Given the description of an element on the screen output the (x, y) to click on. 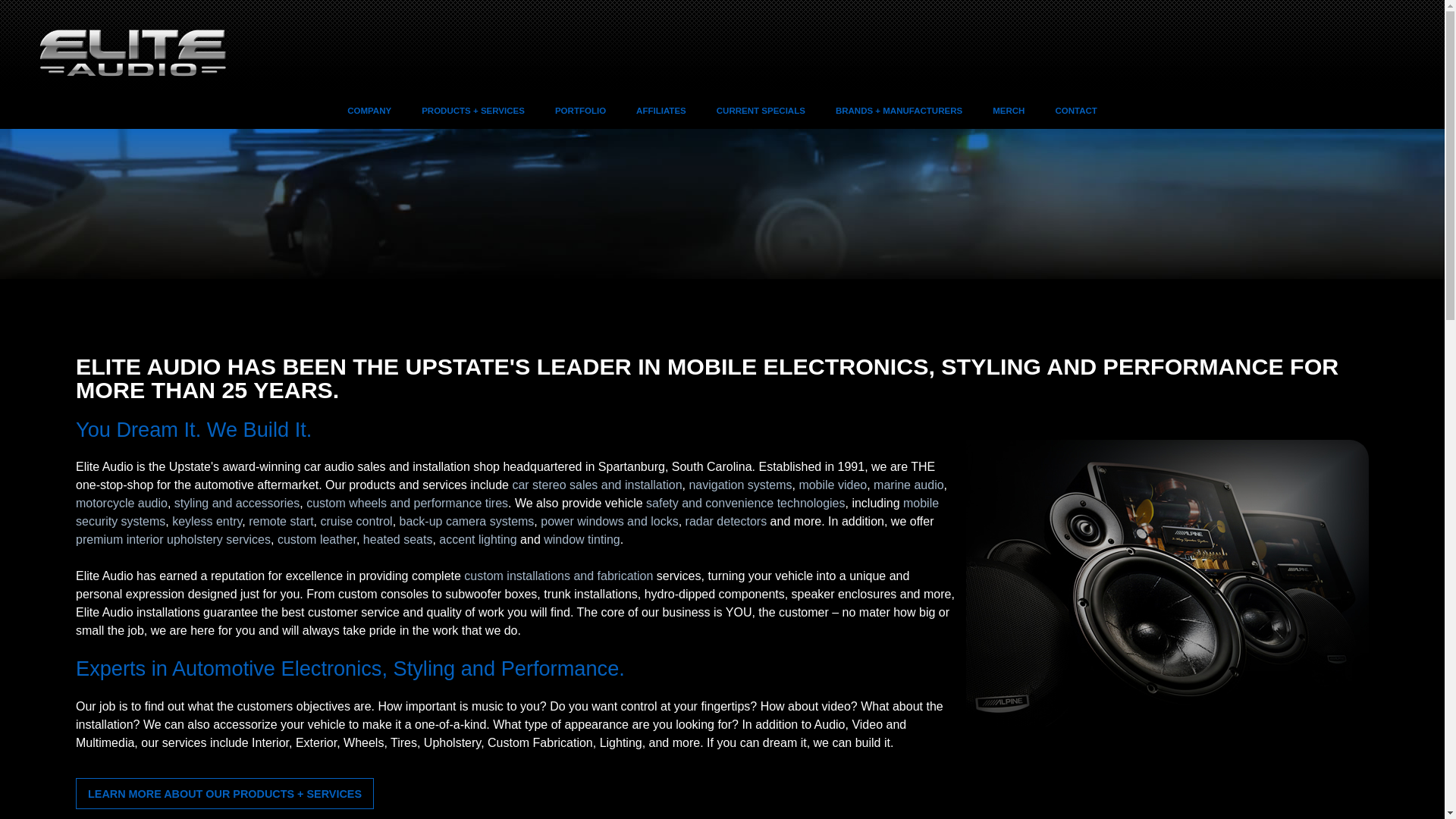
CURRENT SPECIALS (761, 108)
car stereo sales and installation (596, 484)
COMPANY (368, 108)
MERCH (1007, 108)
navigation systems (740, 484)
PORTFOLIO (580, 108)
mobile video (831, 484)
Return to the Home page (113, 74)
AFFILIATES (661, 108)
CONTACT (1075, 108)
